Given the description of an element on the screen output the (x, y) to click on. 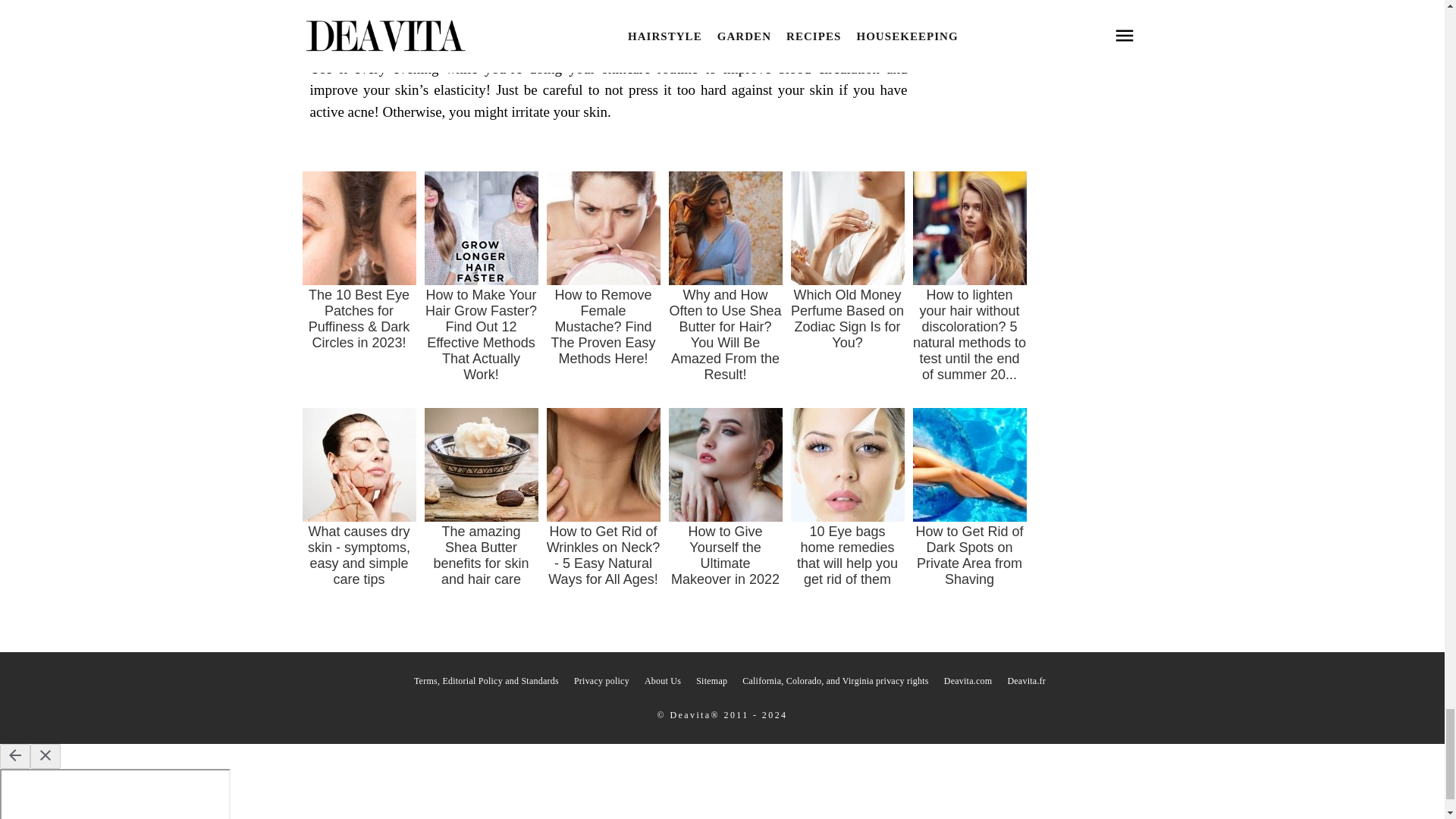
Jade roller anti ageing blood circulation skin benefits (608, 2)
